Given the description of an element on the screen output the (x, y) to click on. 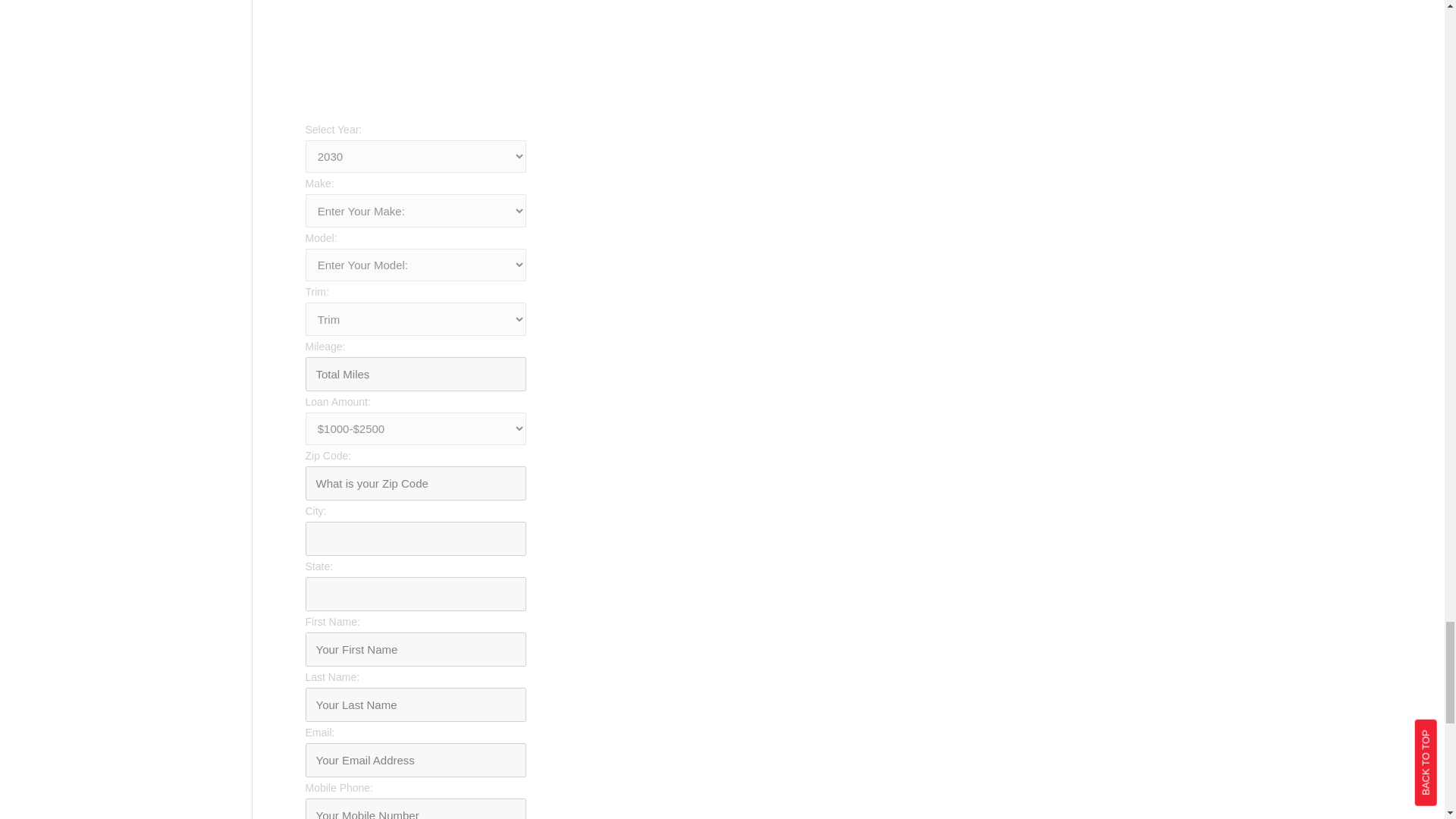
What is your Zip Code (414, 483)
Your Last Name (414, 704)
Your Email Address (414, 759)
Total Miles (414, 374)
Your First Name (414, 649)
Your Mobile Number (414, 808)
